Given the description of an element on the screen output the (x, y) to click on. 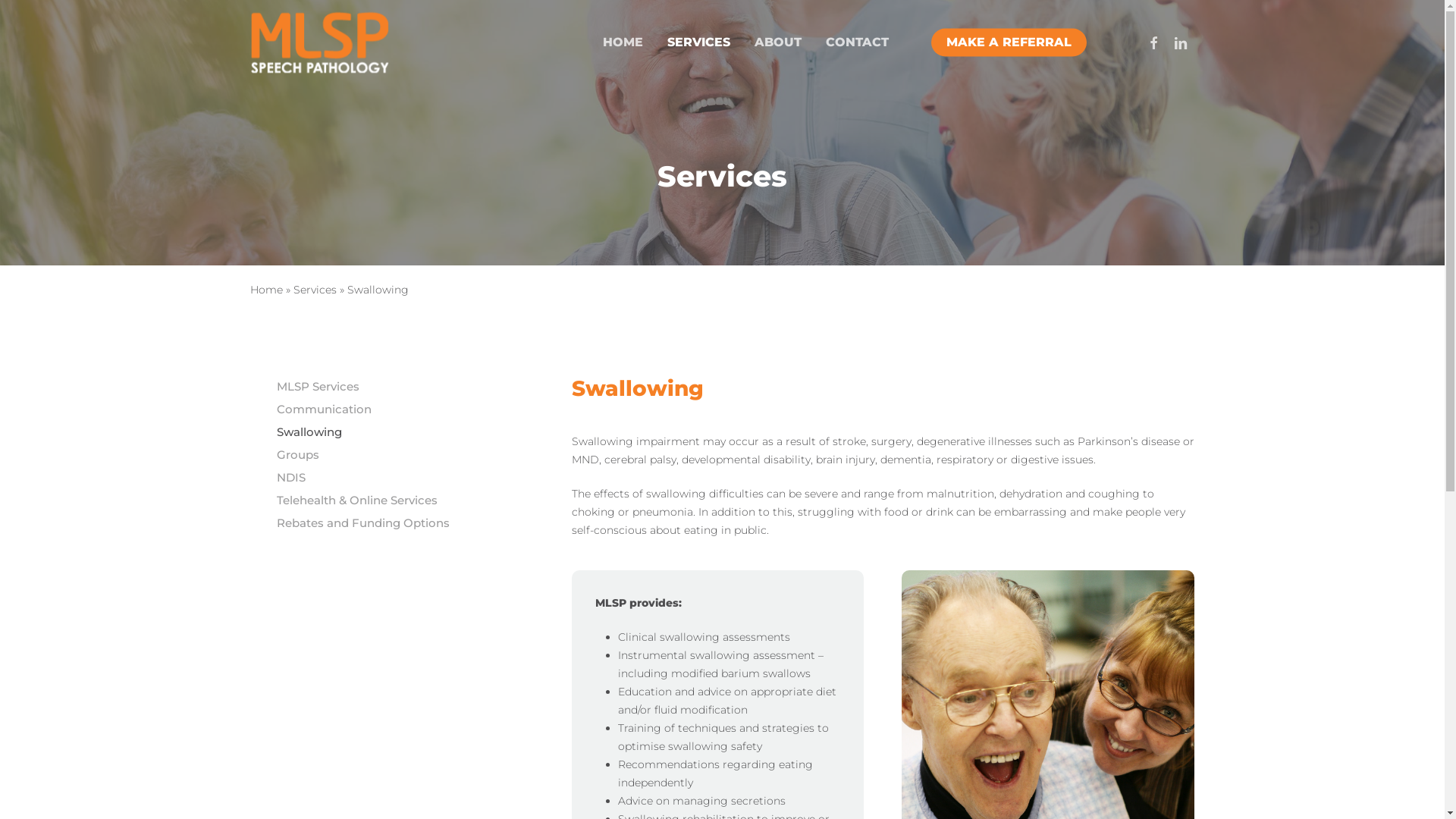
Groups Element type: text (414, 454)
MLSP Services Element type: text (414, 386)
SERVICES Element type: text (698, 42)
Home Element type: text (266, 289)
HOME Element type: text (622, 42)
Rebates and Funding Options Element type: text (414, 522)
ABOUT Element type: text (777, 42)
CONTACT Element type: text (856, 42)
Communication Element type: text (414, 409)
Services Element type: text (314, 289)
MAKE A REFERRAL Element type: text (1008, 42)
Swallowing Element type: text (414, 431)
LINKEDIN Element type: text (1180, 42)
FACEBOOK Element type: text (1153, 42)
NDIS Element type: text (414, 477)
Telehealth & Online Services Element type: text (414, 500)
